Given the description of an element on the screen output the (x, y) to click on. 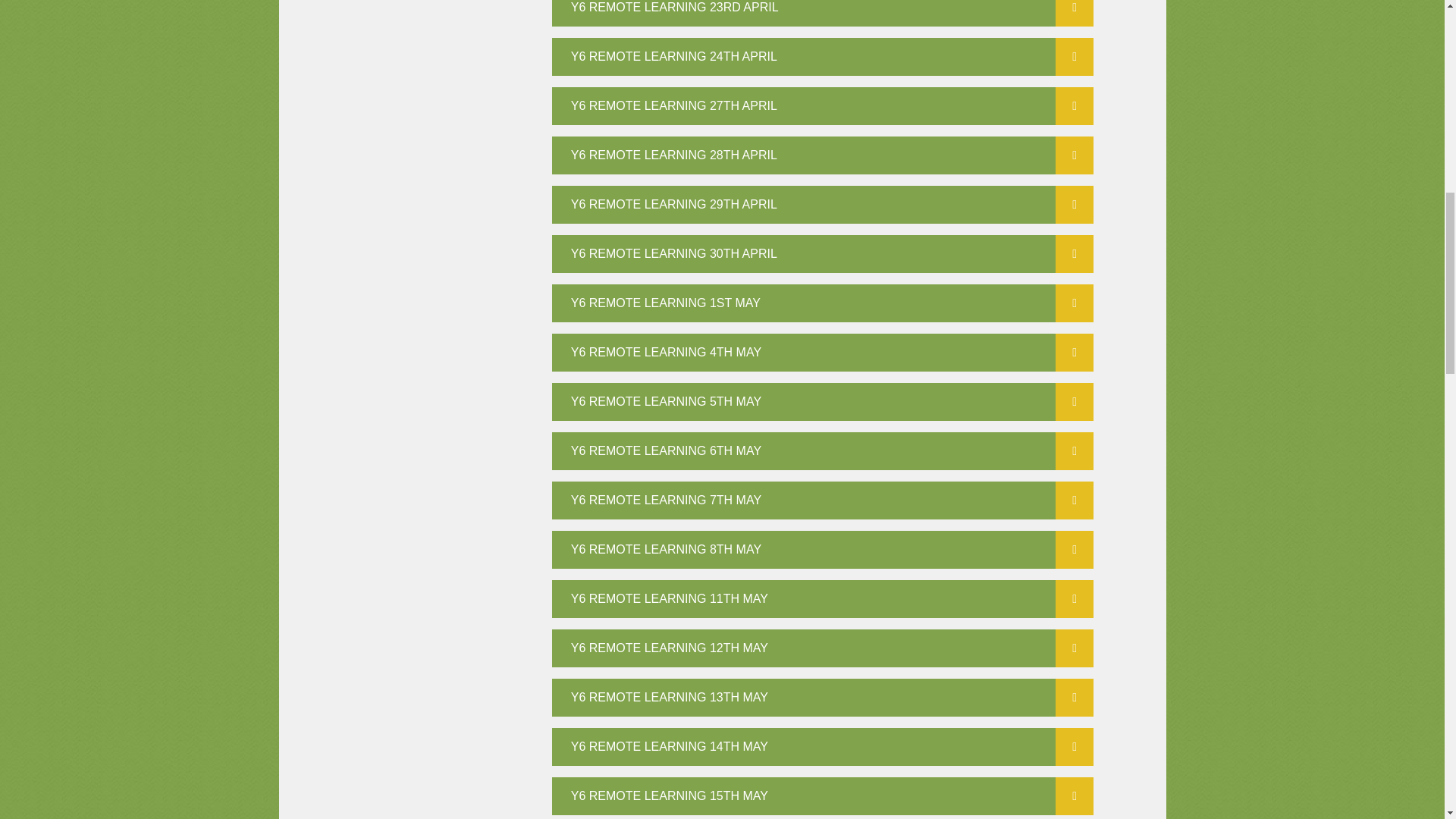
Y6 REMOTE LEARNING 8TH MAY (822, 549)
Download (1074, 549)
Download (1074, 105)
Download (1074, 204)
Download (1074, 13)
Y6 REMOTE LEARNING 24TH APRIL (822, 56)
Y6 REMOTE LEARNING 4TH MAY (822, 352)
Y6 REMOTE LEARNING 15TH MAY (822, 795)
Y6 REMOTE LEARNING 5TH MAY (822, 401)
Download (1074, 598)
